Given the description of an element on the screen output the (x, y) to click on. 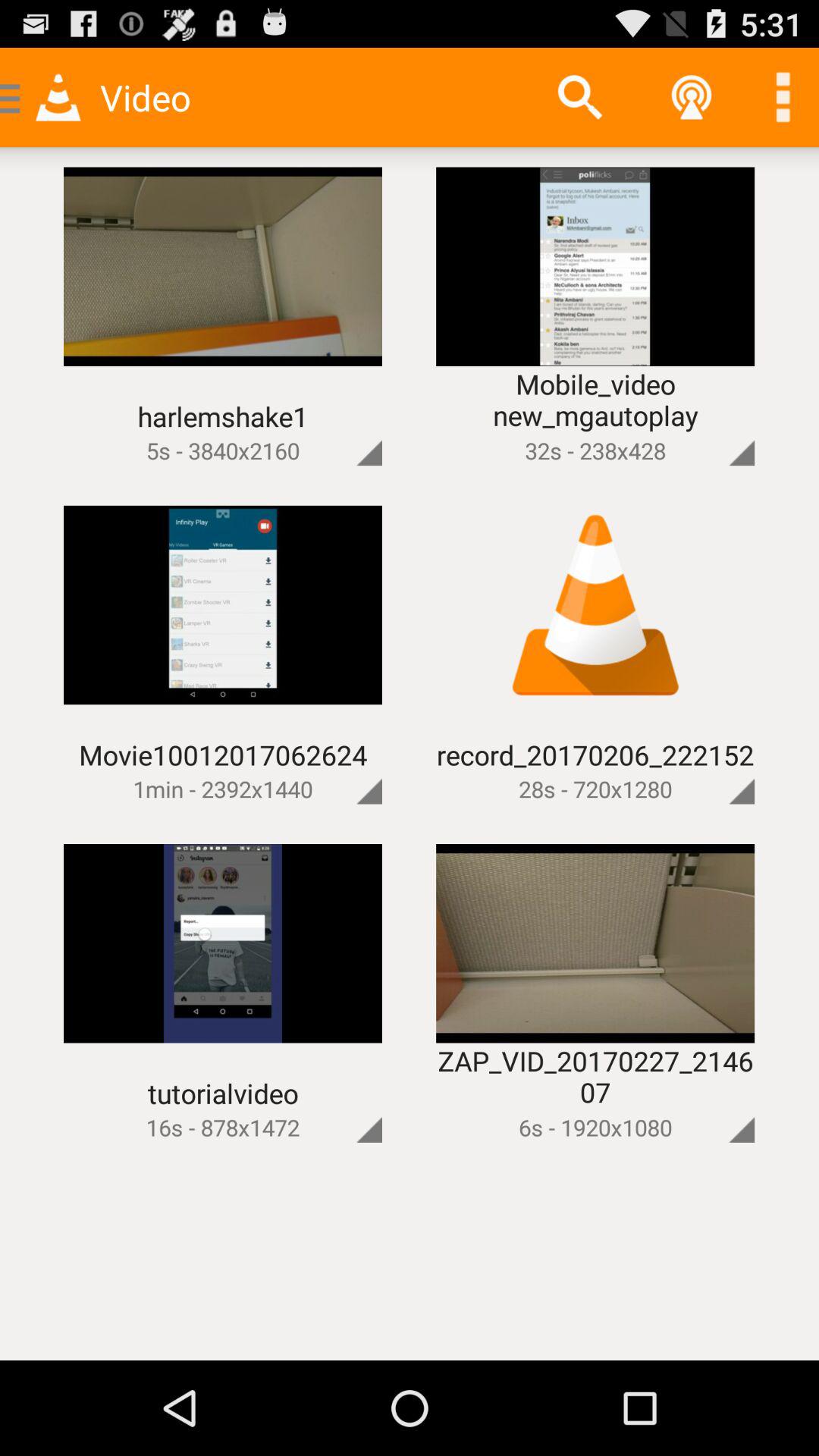
open file (715, 1103)
